Given the description of an element on the screen output the (x, y) to click on. 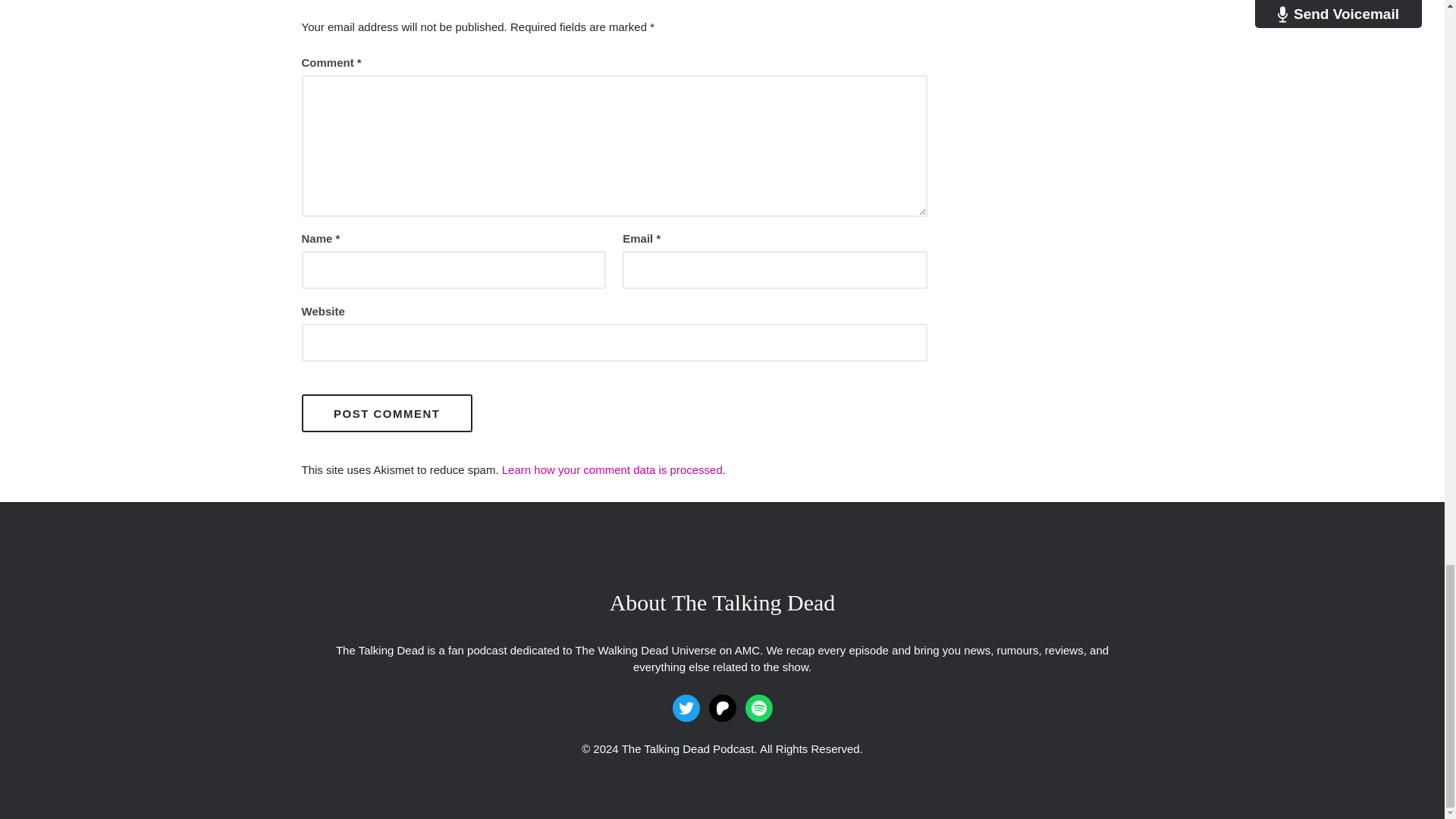
Post Comment (387, 412)
